Given the description of an element on the screen output the (x, y) to click on. 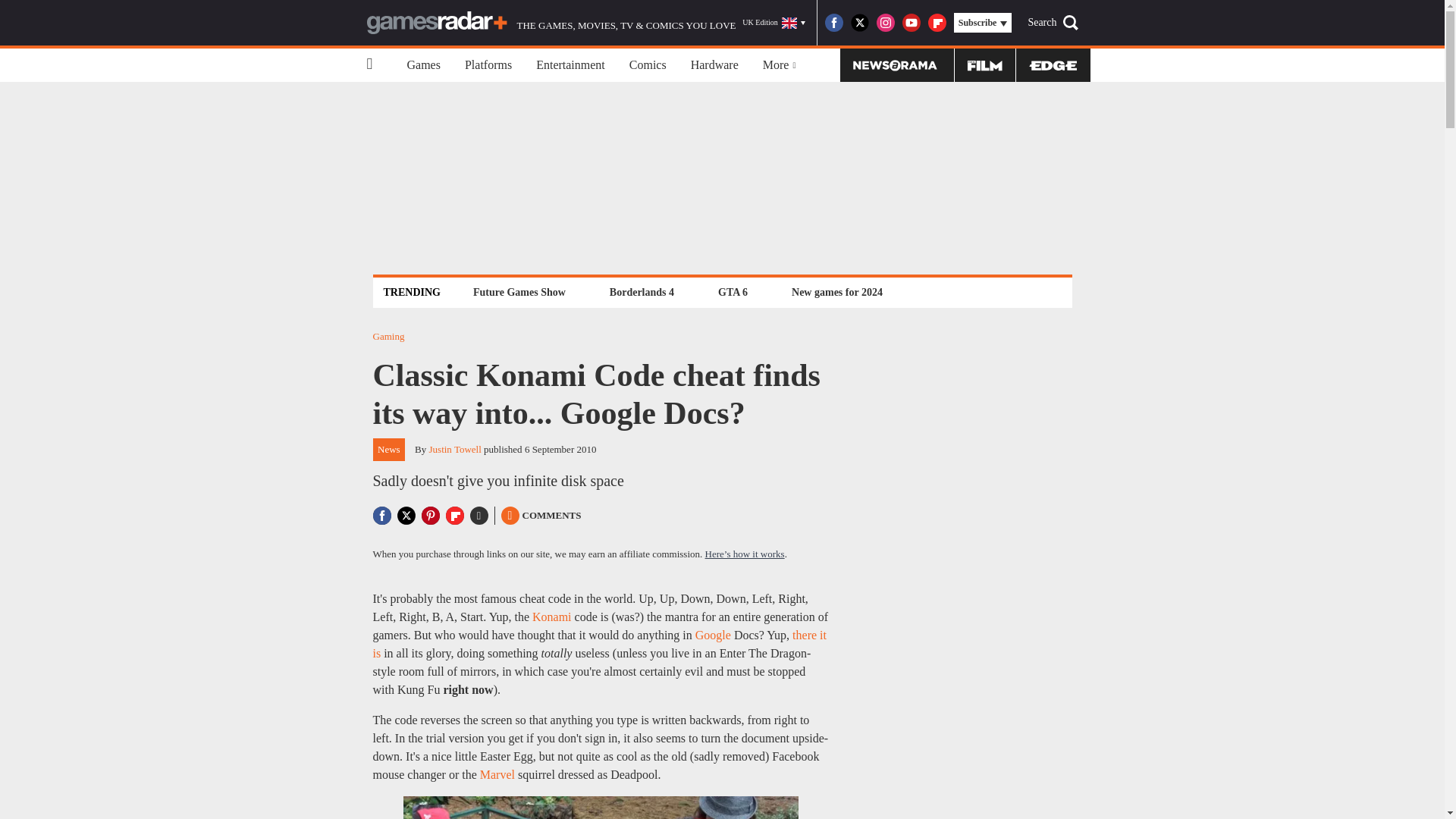
UK Edition (773, 22)
Platforms (488, 64)
Games (422, 64)
Borderlands 4 (641, 292)
GTA 6 (732, 292)
New games for 2024 (837, 292)
Entertainment (570, 64)
Hardware (714, 64)
Comics (647, 64)
Future Games Show (518, 292)
